Given the description of an element on the screen output the (x, y) to click on. 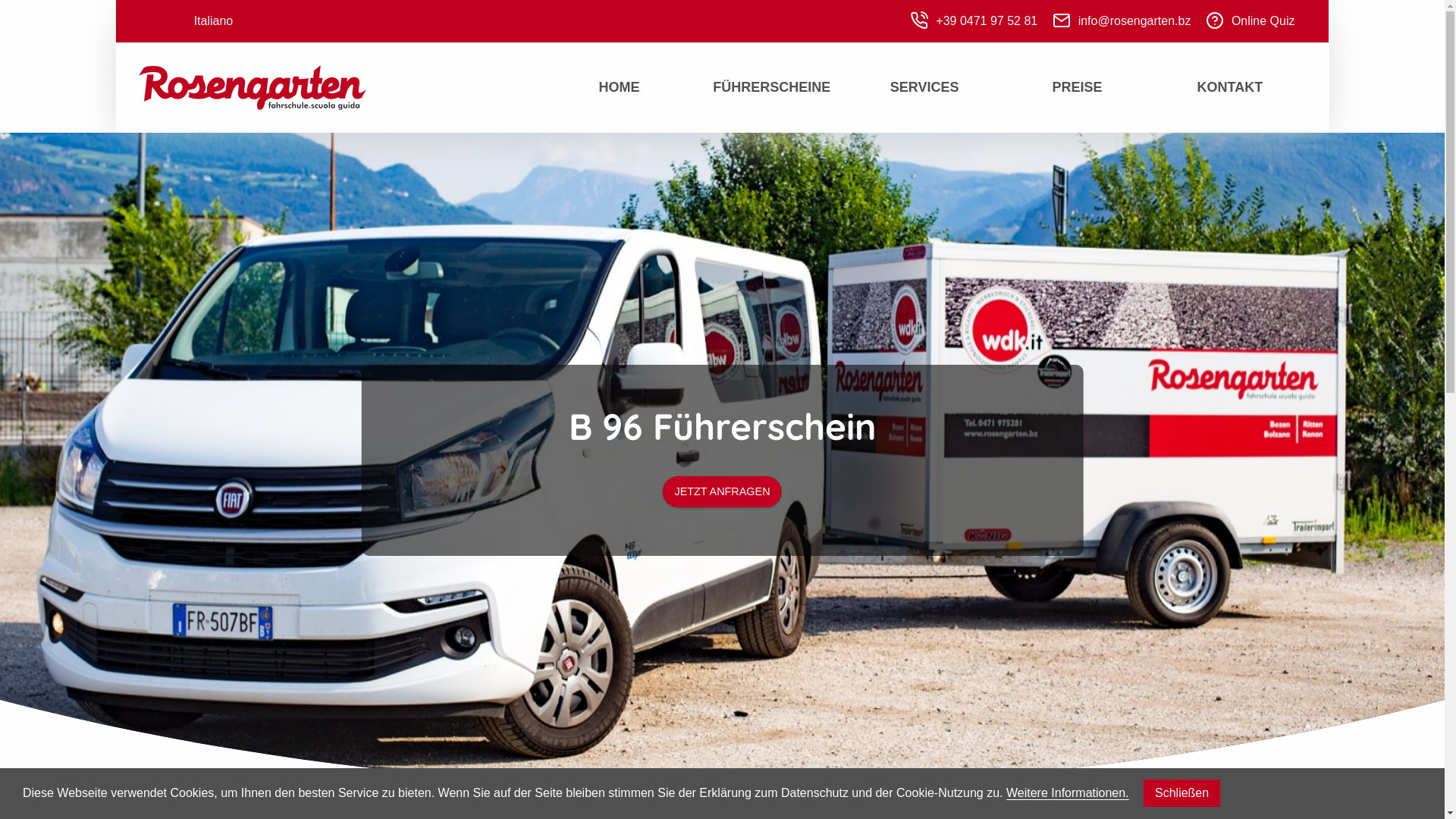
KONTAKT Element type: text (1229, 87)
Online Quiz Element type: text (1250, 20)
JETZT ANFRAGEN Element type: text (721, 491)
Weitere Informationen. Element type: text (1067, 793)
Italiano Element type: text (213, 20)
PREISE Element type: text (1076, 87)
+39 0471 97 52 81 Element type: text (973, 20)
HOME Element type: text (619, 87)
SERVICES Element type: text (924, 87)
info@rosengarten.bz Element type: text (1121, 20)
Deutsch Element type: text (160, 20)
